Given the description of an element on the screen output the (x, y) to click on. 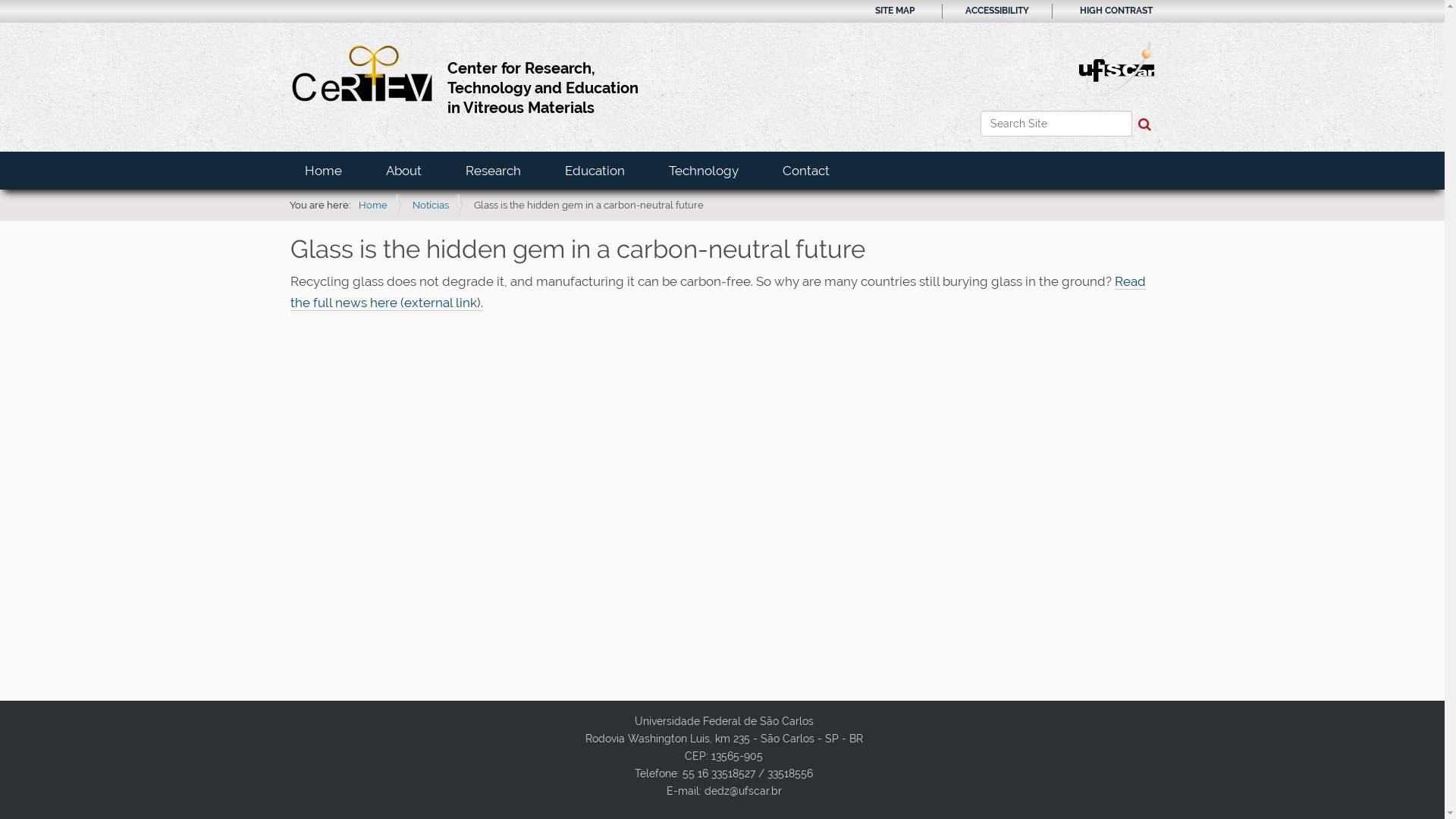
Technology Element type: text (702, 170)
ACCESSIBILITY Element type: text (996, 10)
Contact Element type: text (804, 170)
About Element type: text (403, 170)
Search Site Element type: hover (1055, 123)
Read the full news here (external link). Element type: text (717, 291)
Portal UFSCar Element type: hover (1116, 66)
Research Element type: text (492, 170)
Home Element type: text (322, 170)
HIGH CONTRAST Element type: text (1115, 10)
Home Element type: text (371, 204)
SITE MAP Element type: text (894, 10)
Education Element type: text (594, 170)
